Given the description of an element on the screen output the (x, y) to click on. 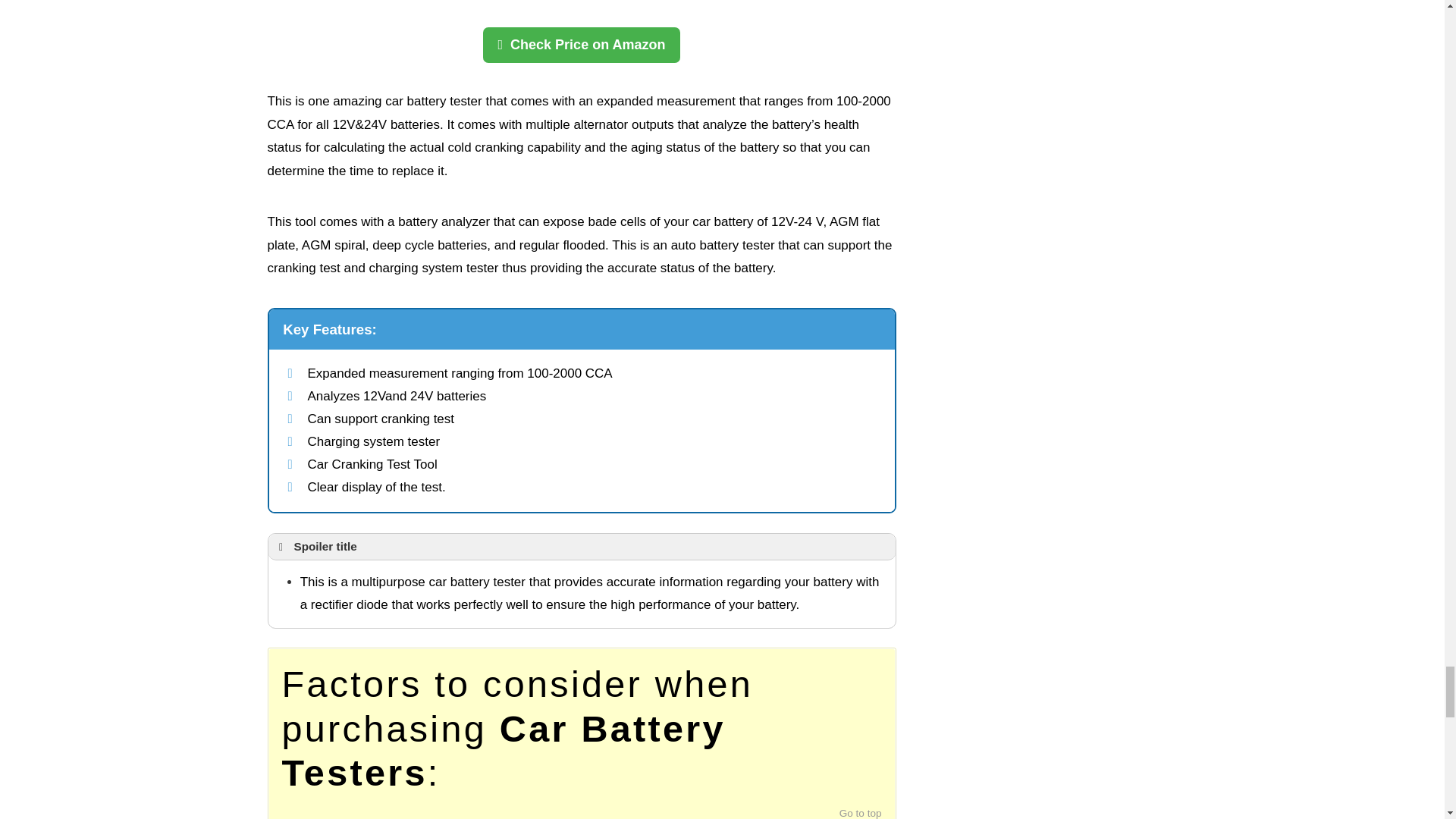
Go to top (861, 813)
  Check Price on Amazon (581, 44)
